Given the description of an element on the screen output the (x, y) to click on. 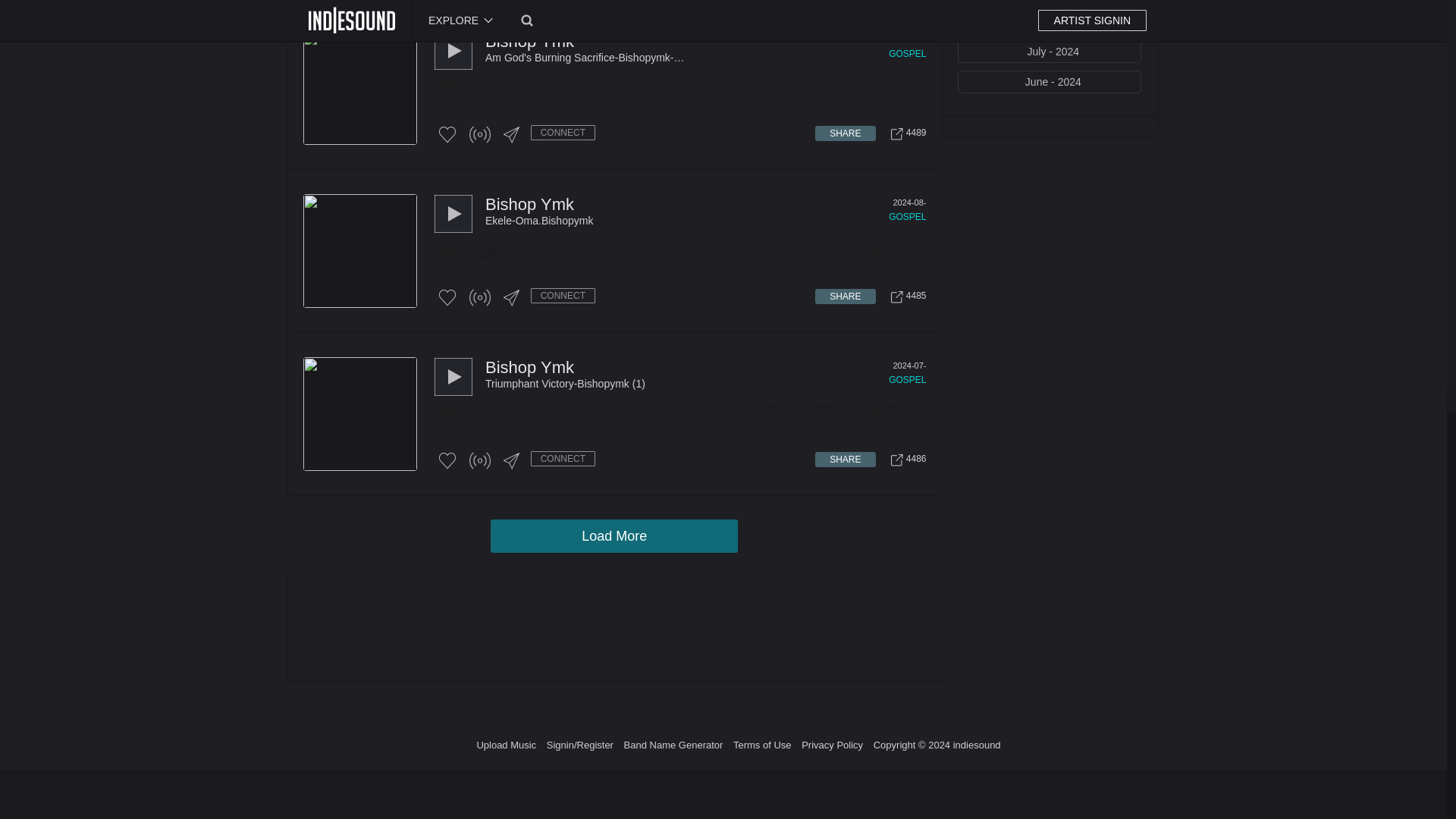
Click here to Visit Track Page (904, 296)
Click here to Visit Track Page (904, 133)
Click here to Visit Track Page (904, 459)
